Given the description of an element on the screen output the (x, y) to click on. 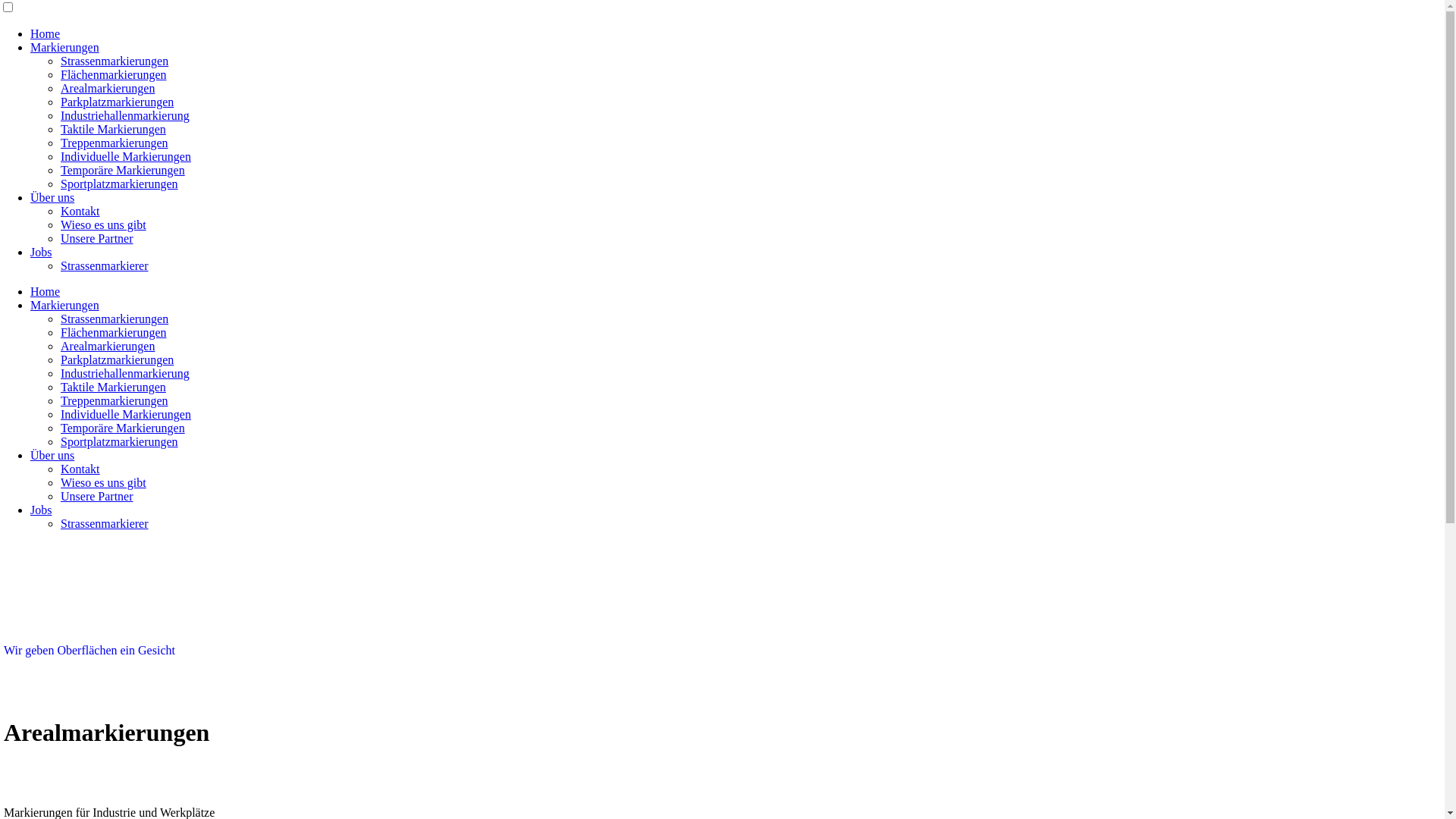
Industriehallenmarkierung Element type: text (124, 373)
Treppenmarkierungen Element type: text (114, 400)
Wieso es uns gibt Element type: text (103, 224)
Sportplatzmarkierungen Element type: text (119, 183)
Industriehallenmarkierung Element type: text (124, 115)
Arealmarkierungen Element type: text (107, 345)
Arealmarkierungen Element type: text (107, 87)
Wieso es uns gibt Element type: text (103, 482)
Strassenmarkierer Element type: text (104, 523)
Markierungen Element type: text (64, 46)
Strassenmarkierer Element type: text (104, 265)
Unsere Partner Element type: text (96, 495)
Strassenmarkierungen Element type: text (114, 60)
Taktile Markierungen Element type: text (113, 128)
Parkplatzmarkierungen Element type: text (116, 359)
Markierungen Element type: text (64, 304)
Unsere Partner Element type: text (96, 238)
Kontakt Element type: text (80, 468)
Individuelle Markierungen Element type: text (125, 413)
Individuelle Markierungen Element type: text (125, 156)
Parkplatzmarkierungen Element type: text (116, 101)
Taktile Markierungen Element type: text (113, 386)
Kontakt Element type: text (80, 210)
Treppenmarkierungen Element type: text (114, 142)
Jobs Element type: text (40, 509)
Sportplatzmarkierungen Element type: text (119, 441)
Strassenmarkierungen Element type: text (114, 318)
Home Element type: text (44, 291)
Home Element type: text (44, 33)
Jobs Element type: text (40, 251)
